Given the description of an element on the screen output the (x, y) to click on. 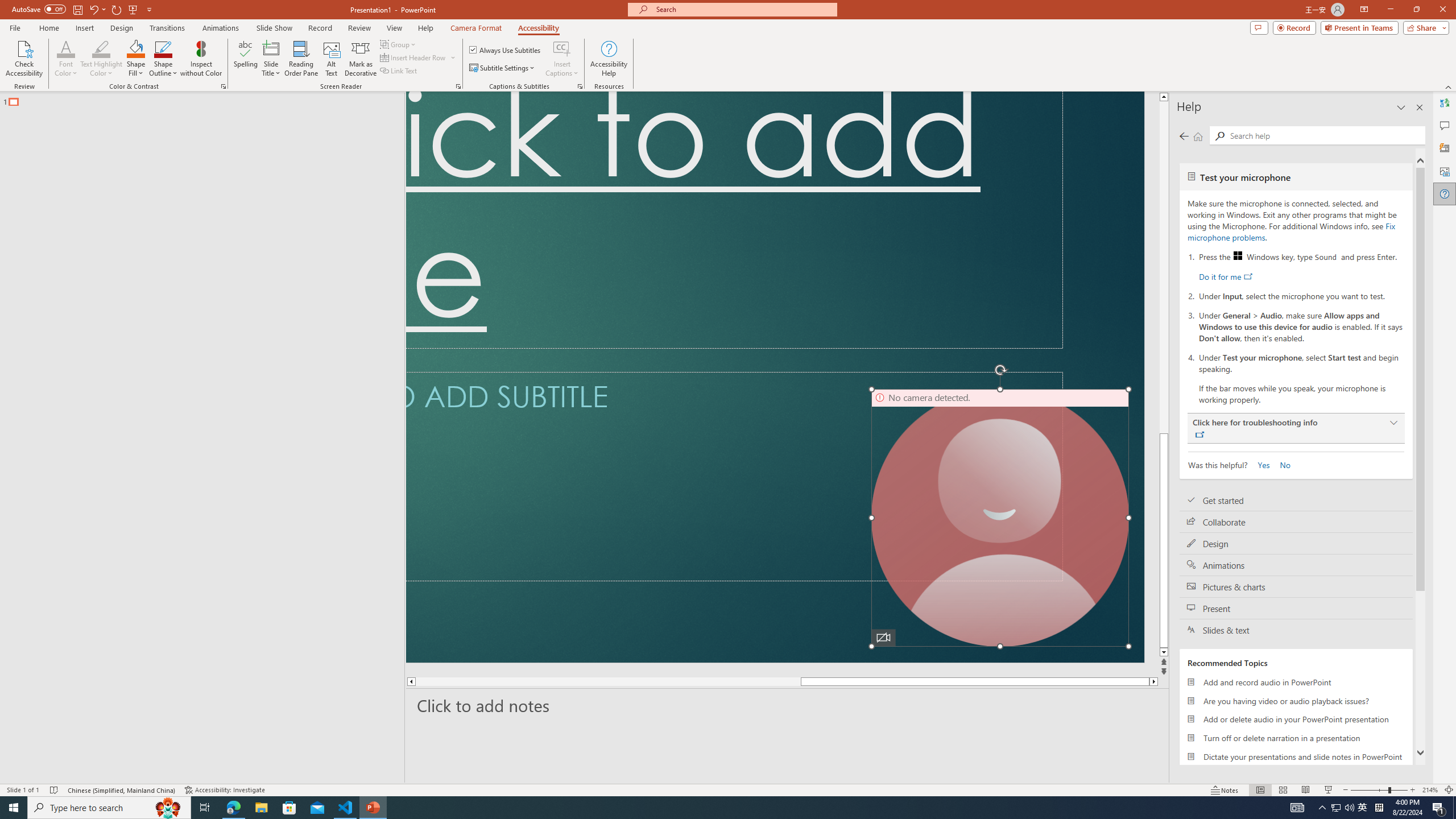
Zoom 214% (1430, 790)
